Given the description of an element on the screen output the (x, y) to click on. 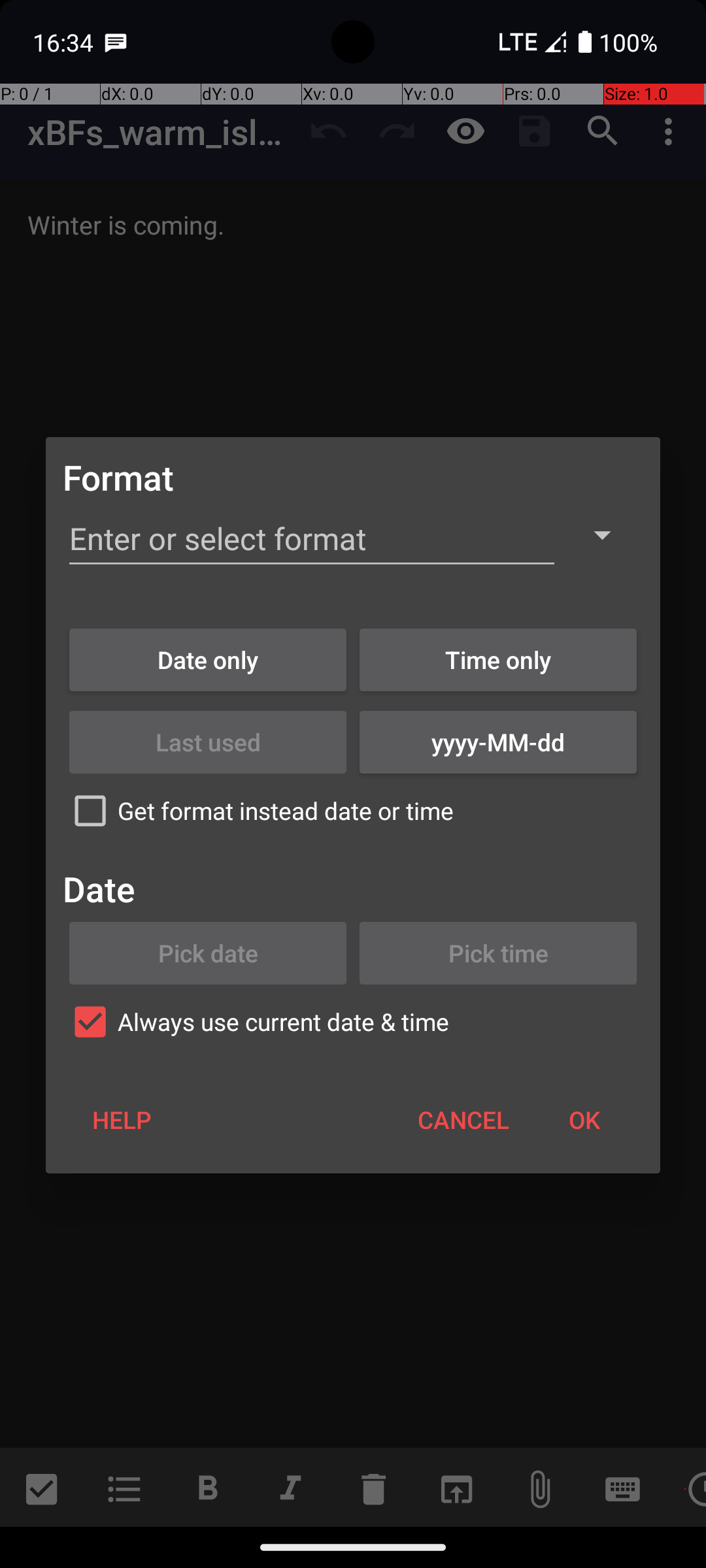
16:34 Element type: android.widget.TextView (64, 41)
